Given the description of an element on the screen output the (x, y) to click on. 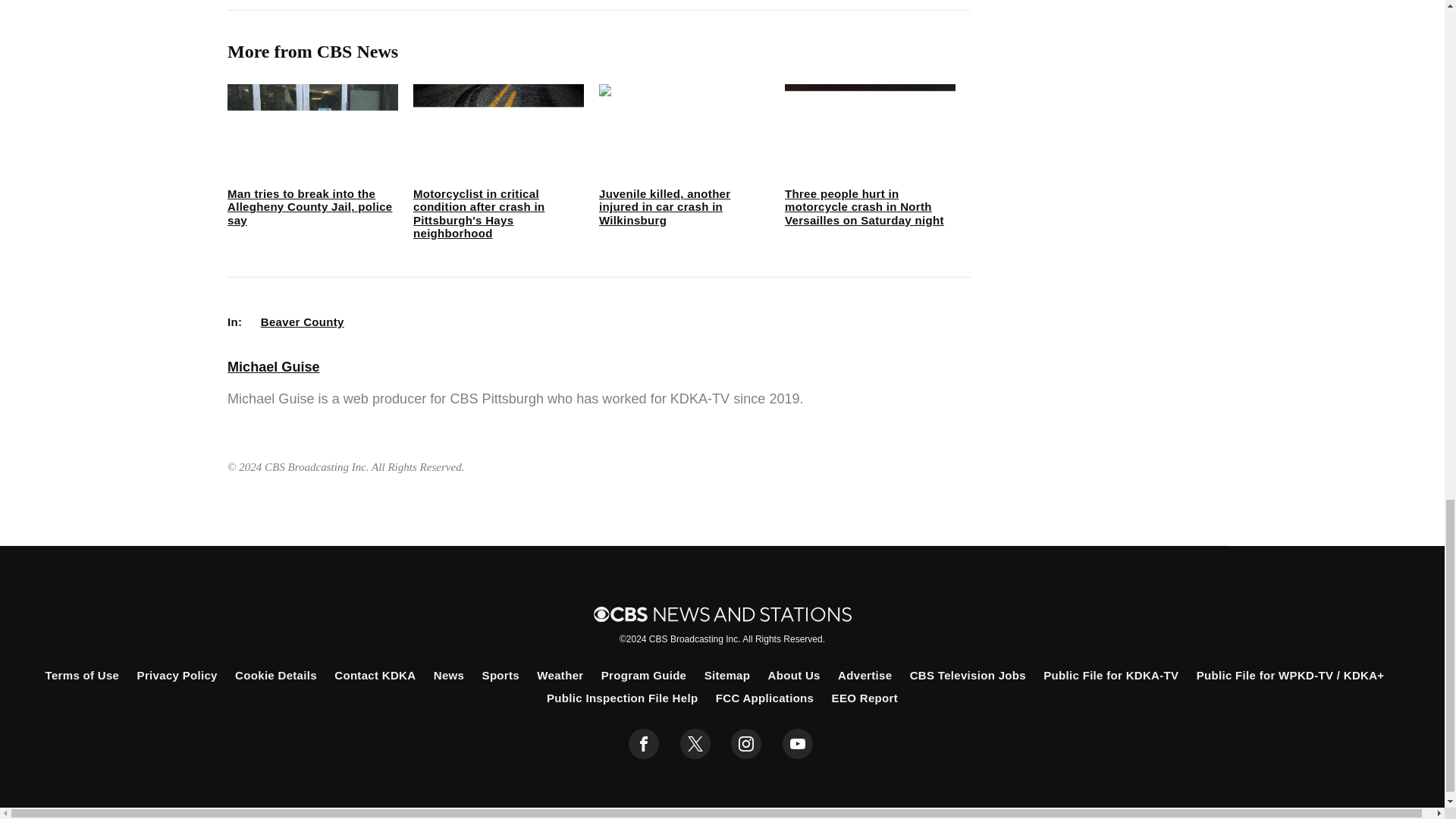
facebook (643, 743)
youtube (797, 743)
instagram (745, 743)
twitter (694, 743)
